Given the description of an element on the screen output the (x, y) to click on. 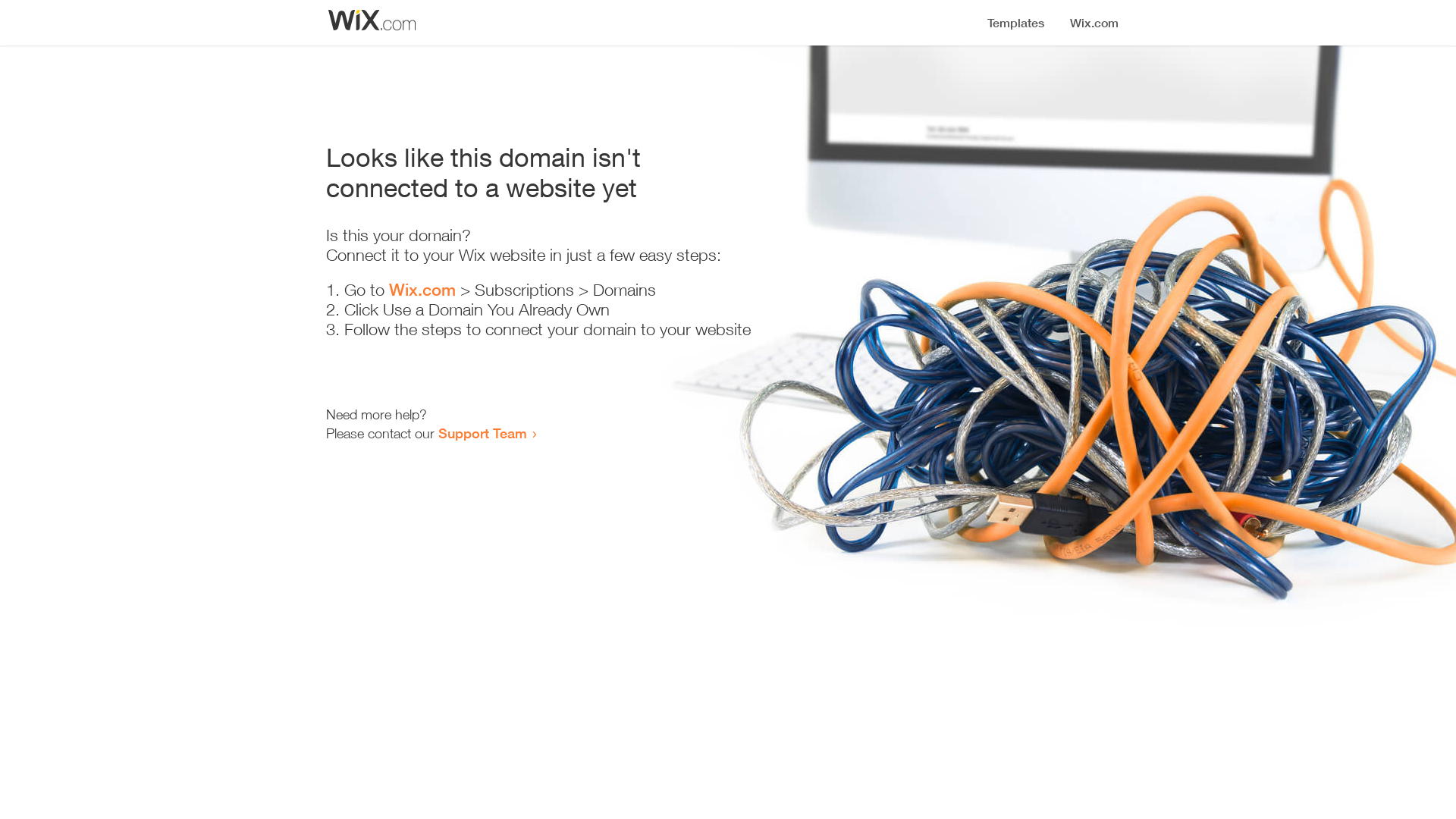
Wix.com Element type: text (422, 289)
Support Team Element type: text (482, 432)
